Given the description of an element on the screen output the (x, y) to click on. 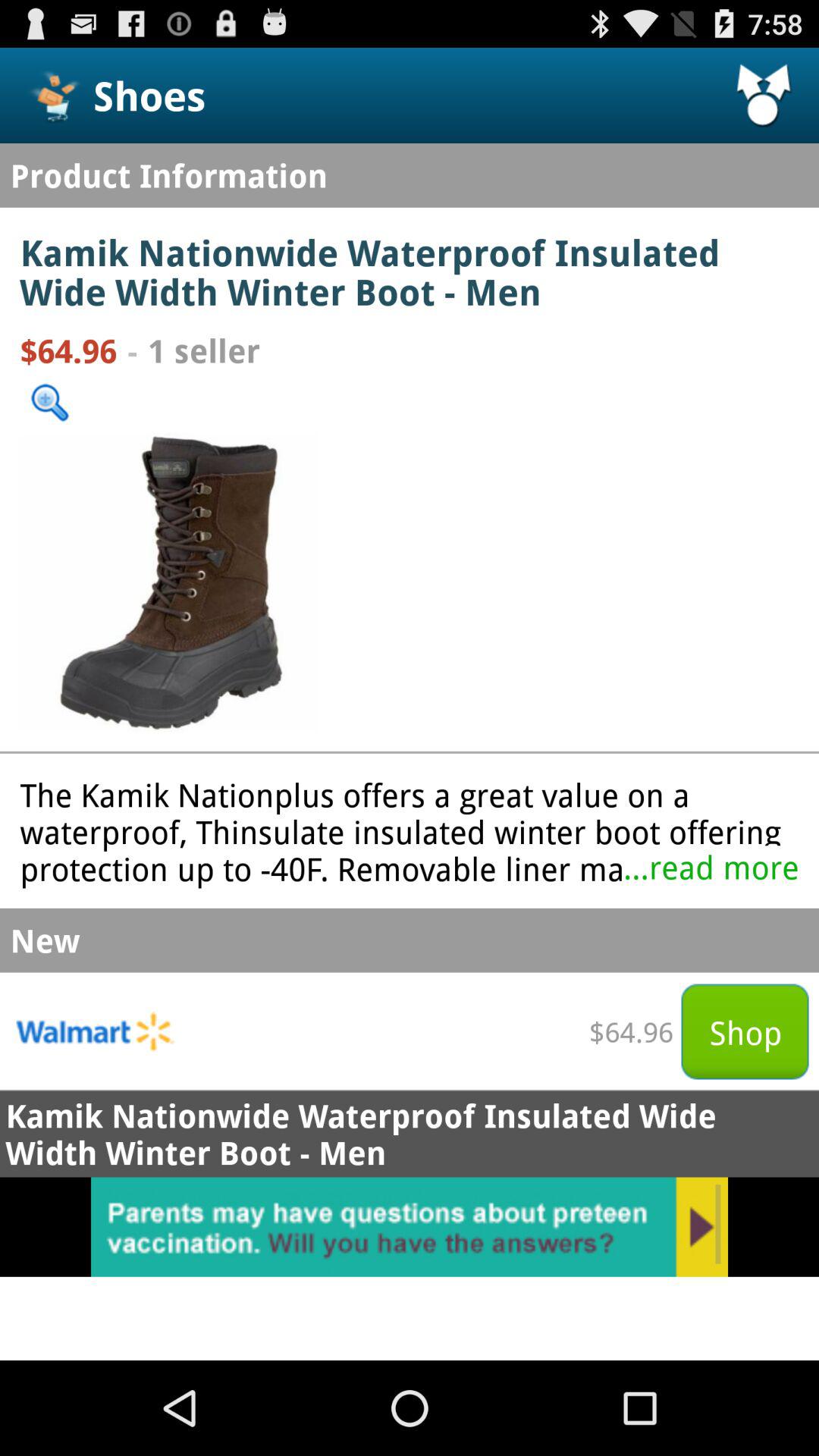
shoe image (168, 581)
